Given the description of an element on the screen output the (x, y) to click on. 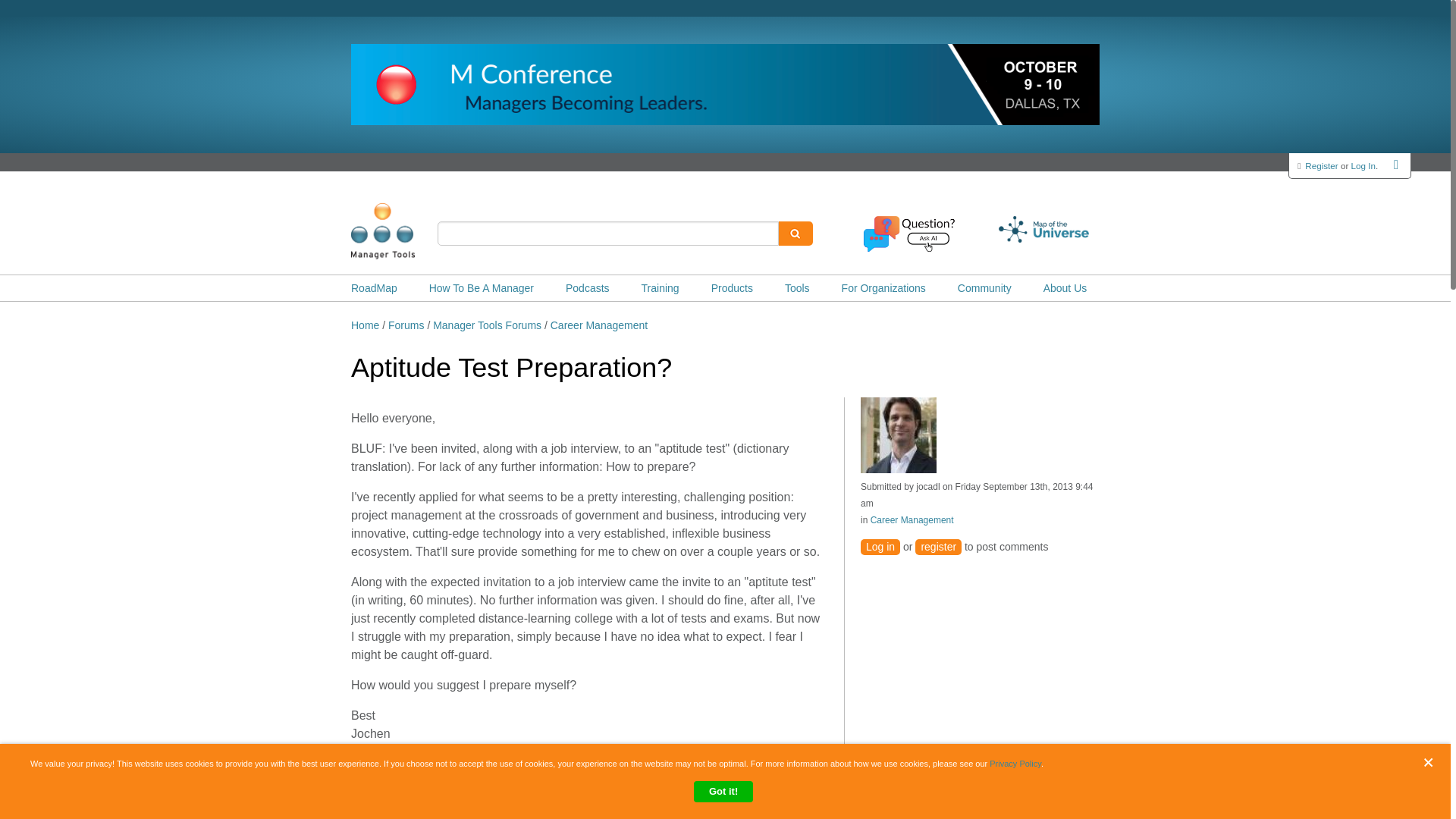
Log In (1363, 165)
Search (795, 233)
Shopping Cart (1396, 164)
Search (795, 233)
About Cookie Control (37, 769)
Register (1321, 165)
Home (406, 231)
Training (660, 288)
Podcasts (588, 288)
Close (1431, 762)
Privacy Policy (1015, 763)
How To Be A Manager (481, 288)
About Cookie Control (37, 769)
RoadMap (373, 288)
Got it! (723, 791)
